Given the description of an element on the screen output the (x, y) to click on. 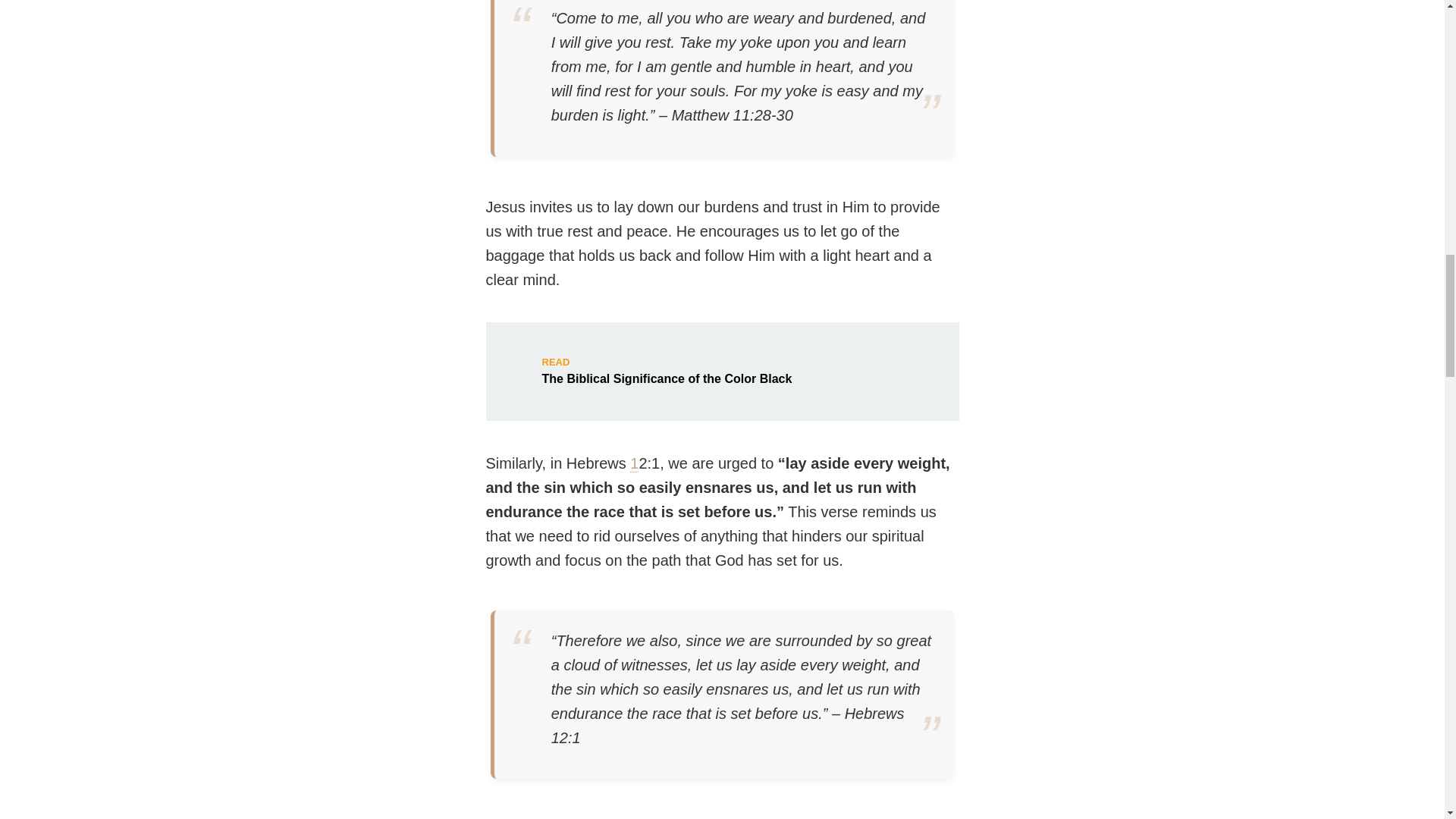
1 (634, 463)
1 (721, 371)
